Given the description of an element on the screen output the (x, y) to click on. 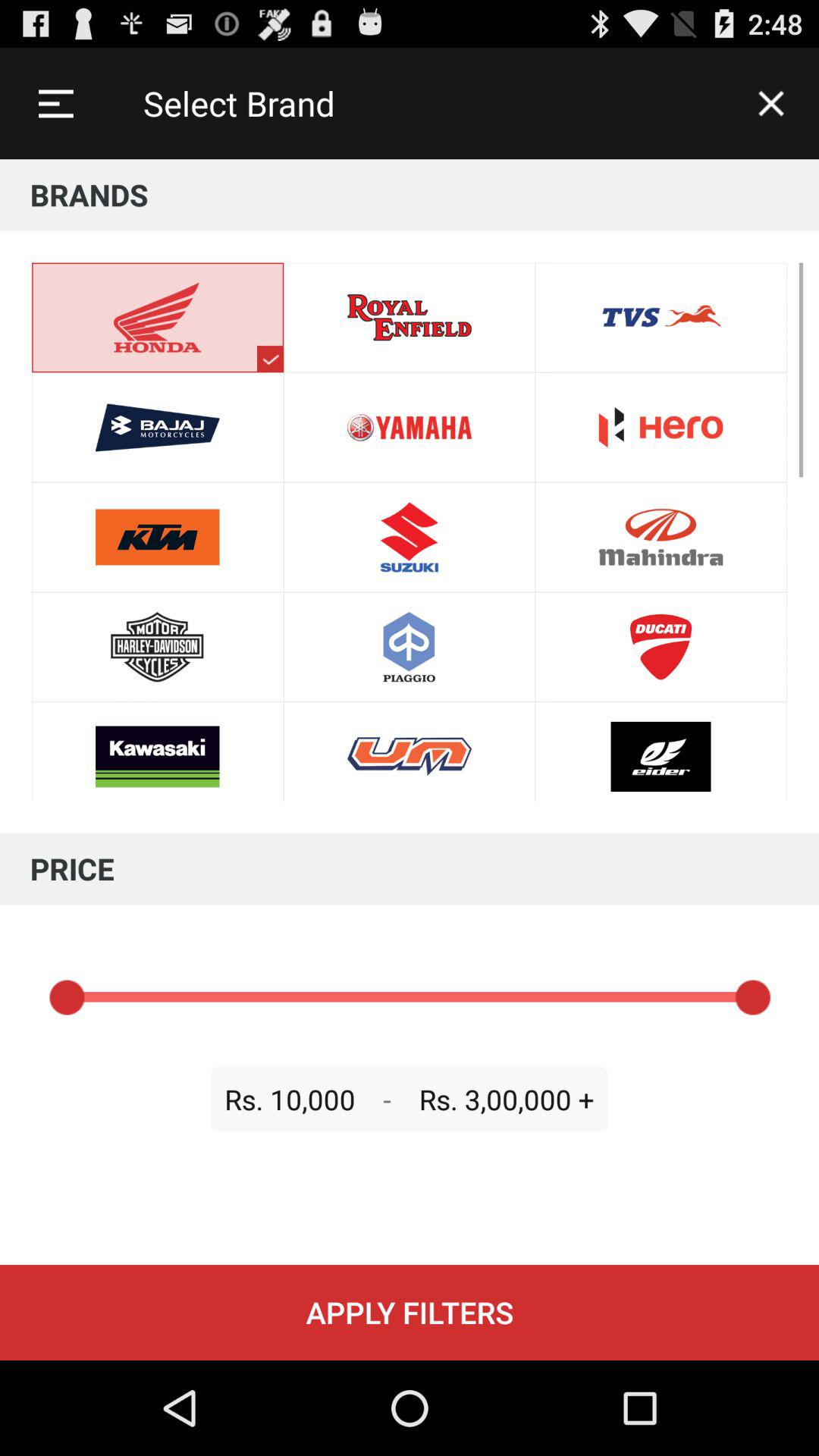
press icon next to select brand (771, 103)
